Given the description of an element on the screen output the (x, y) to click on. 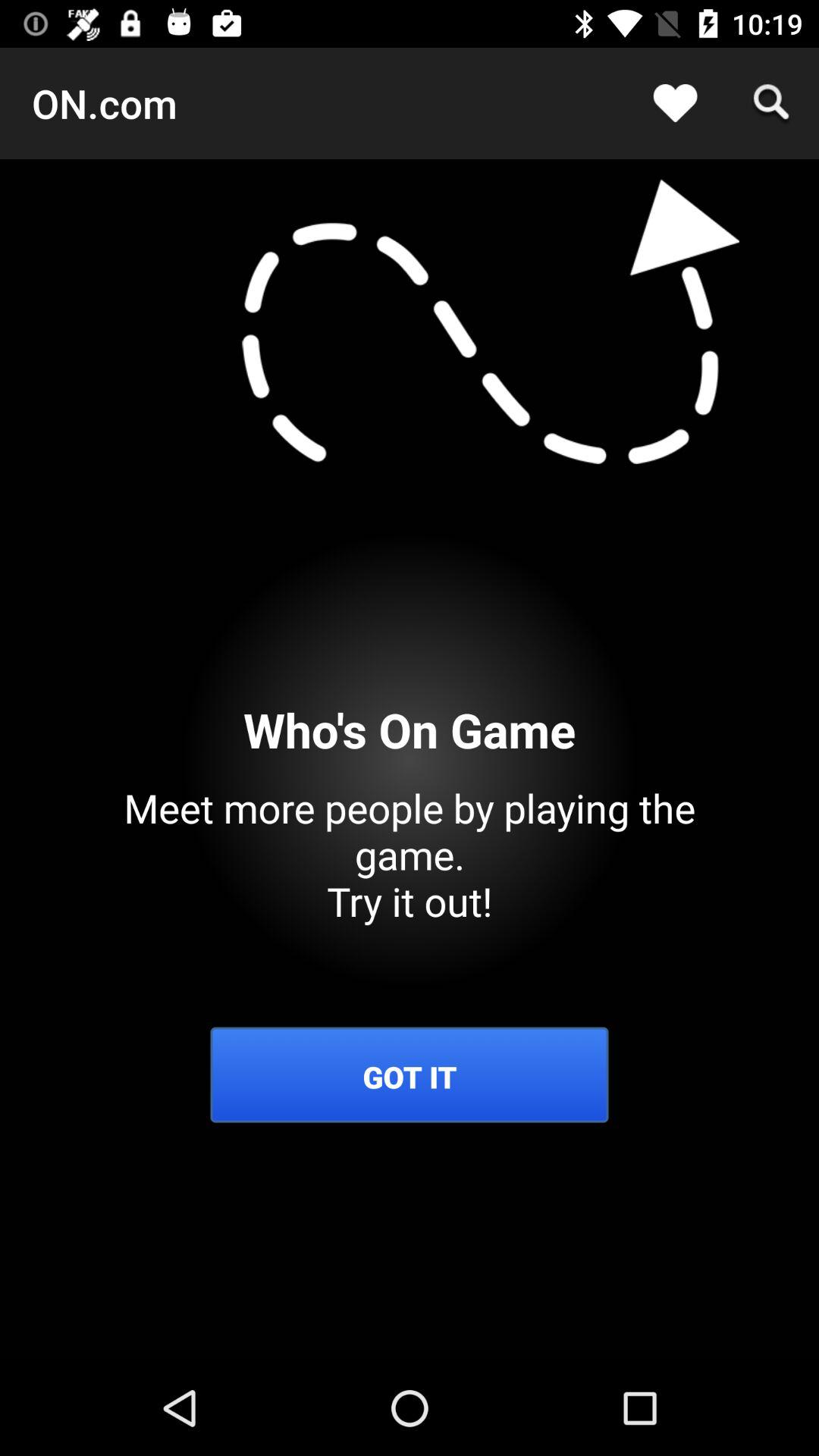
jump to the got it icon (409, 1076)
